Given the description of an element on the screen output the (x, y) to click on. 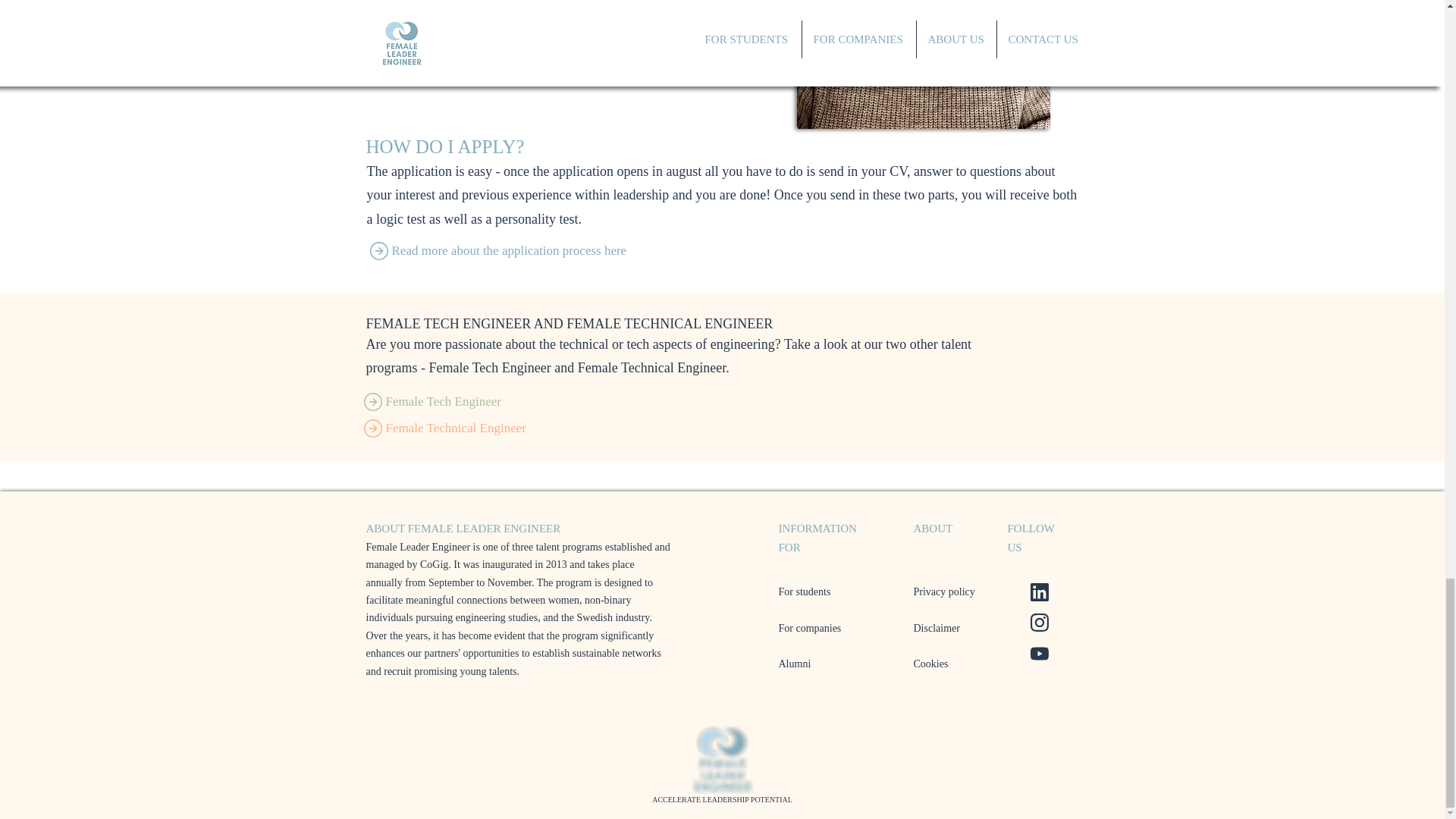
Female Tech Engineer (517, 402)
Cookies (929, 663)
Read more about the application process here (523, 251)
CONNECT HERE (588, 45)
Female Technical Engineer (517, 428)
Alumni (793, 663)
For companies (809, 627)
Privacy policy (943, 591)
Disclaimer (935, 627)
For students (803, 591)
